Given the description of an element on the screen output the (x, y) to click on. 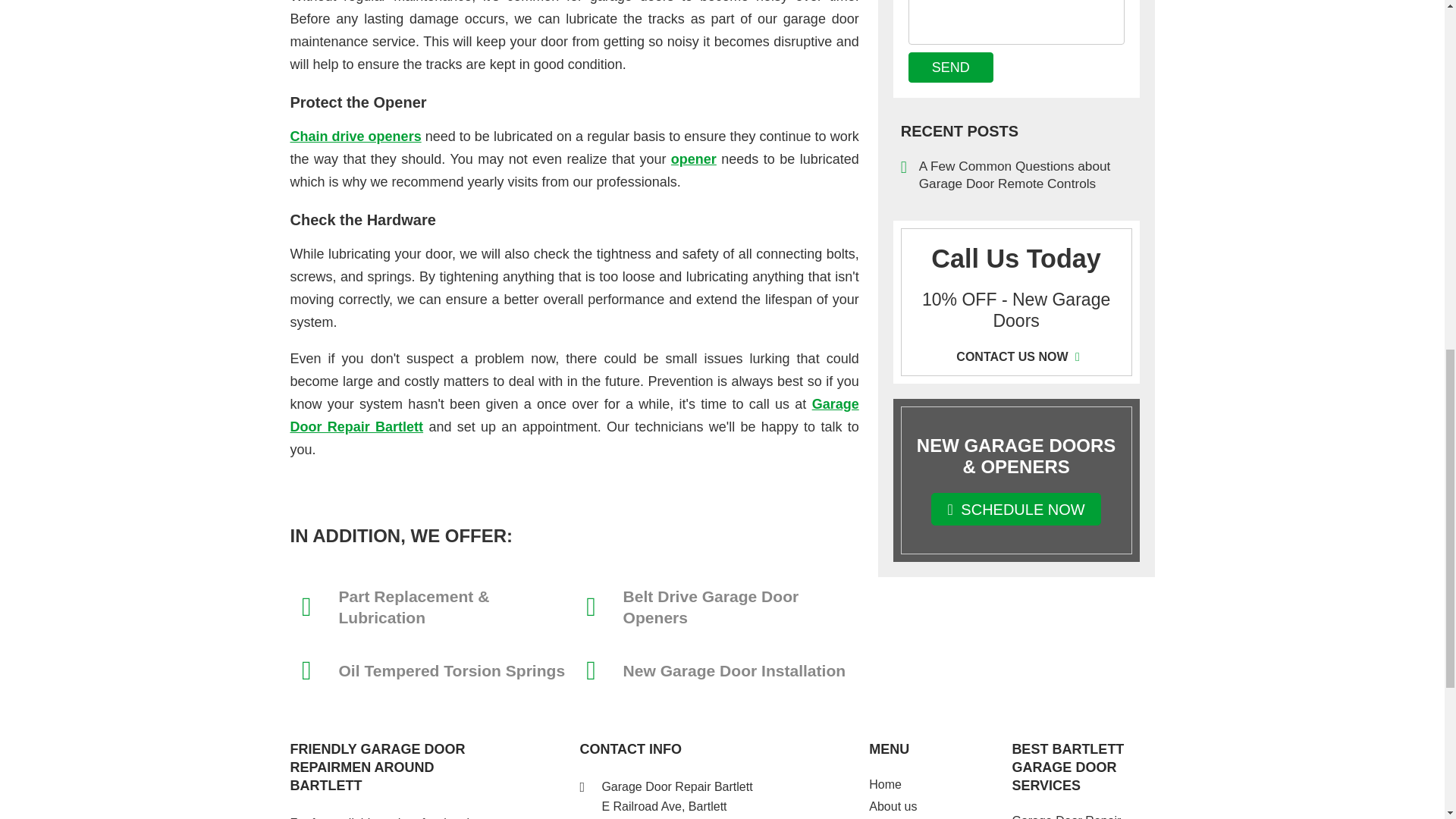
SEND (950, 67)
SEND (950, 67)
Chain drive openers (354, 136)
opener (693, 159)
A Few Common Questions about Garage Door Remote Controls (1016, 174)
Opener became noisy? (354, 136)
CONTACT US NOW (1015, 355)
Garage Door Repair Bartlett (574, 415)
Garage door opener (693, 159)
SCHEDULE NOW (1015, 509)
